Given the description of an element on the screen output the (x, y) to click on. 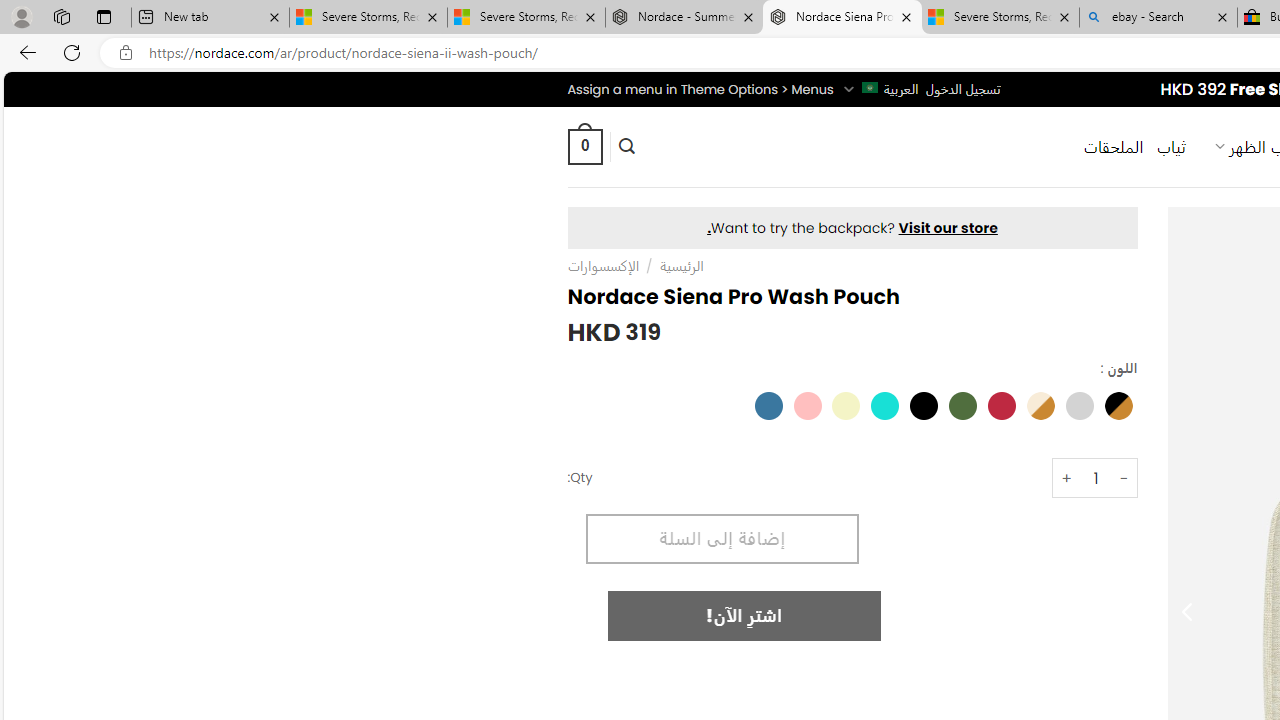
Visit our store. (852, 228)
- (1124, 477)
Assign a menu in Theme Options > Menus (700, 89)
